Given the description of an element on the screen output the (x, y) to click on. 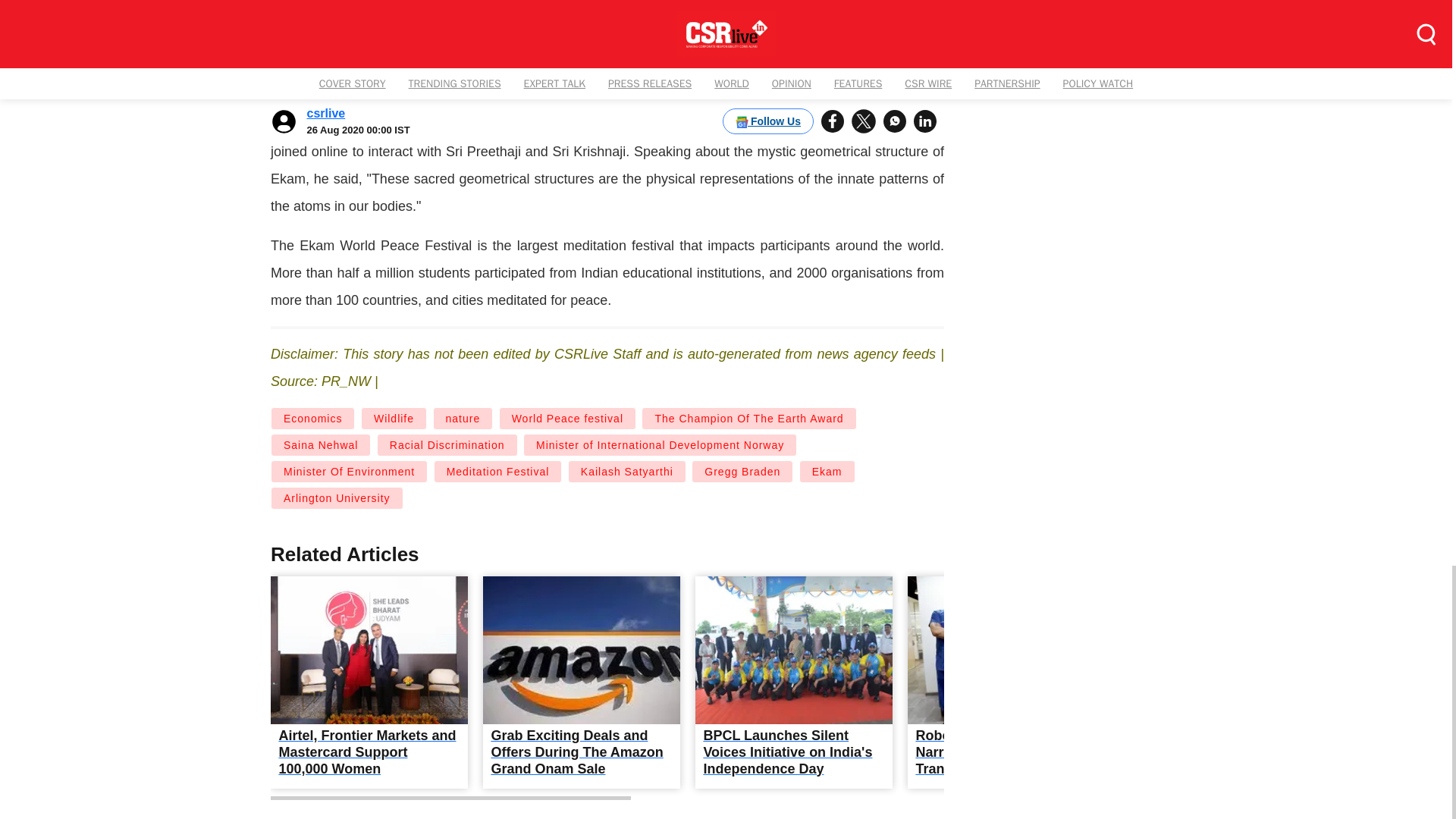
The Champion Of The Earth Award (749, 418)
Arlington University (336, 497)
World Peace festival (567, 418)
Saina Nehwal (320, 445)
Minister Of Environment (349, 471)
Economics (312, 418)
Gregg Braden (742, 471)
Meditation Festival (497, 471)
Kailash Satyarthi (626, 471)
Minister of International Development Norway (659, 445)
Ekam (827, 471)
nature (462, 418)
